Given the description of an element on the screen output the (x, y) to click on. 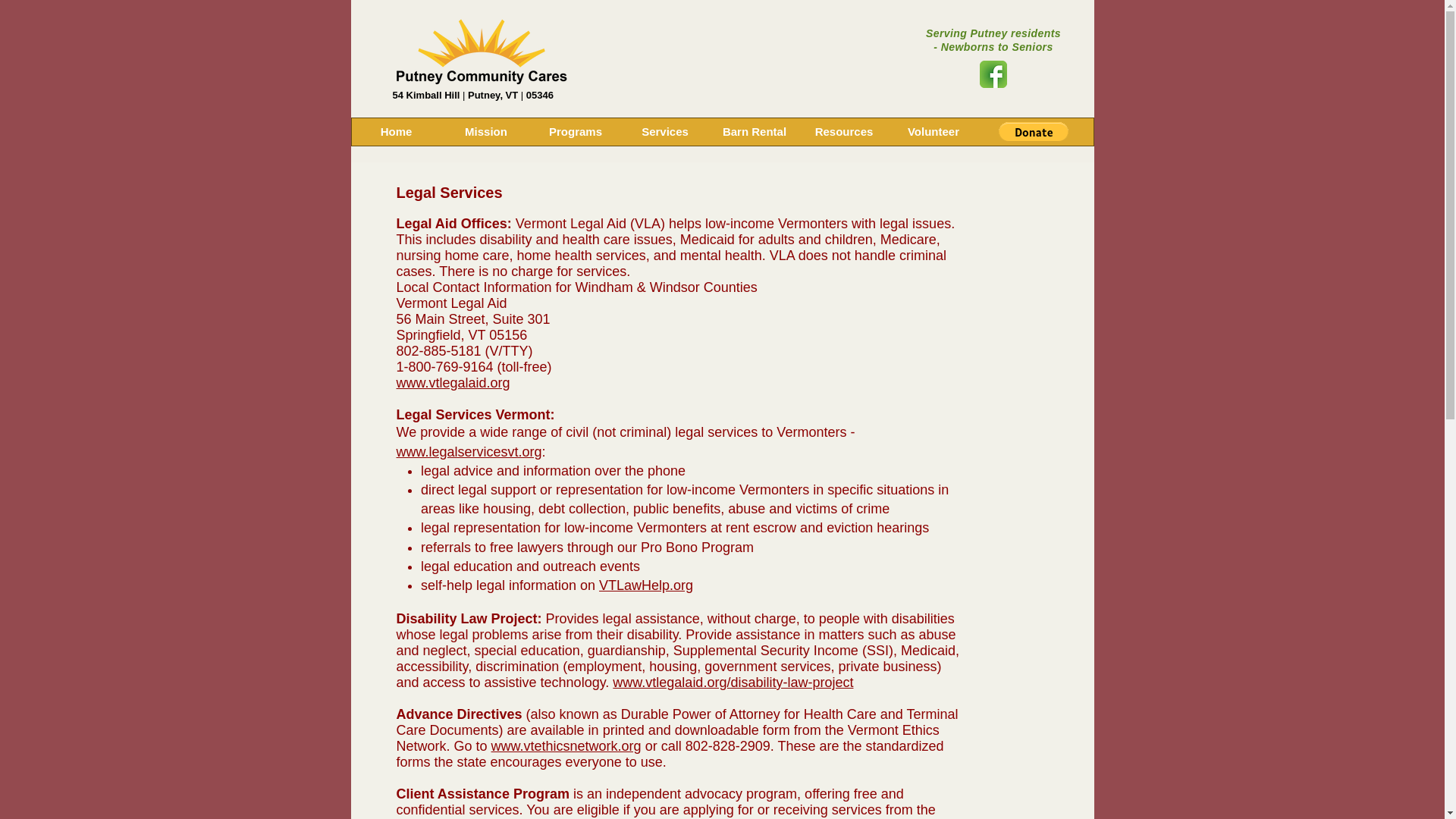
Programs (575, 131)
Resources (843, 131)
Services (665, 131)
Barn Rental (754, 131)
Volunteer (933, 131)
www.legalservicesvt.org (468, 451)
www.vtethicsnetwork.org (567, 745)
Home (396, 131)
www.vtlegalaid.org (452, 382)
VTLawHelp.org (645, 585)
Mission (486, 131)
